Given the description of an element on the screen output the (x, y) to click on. 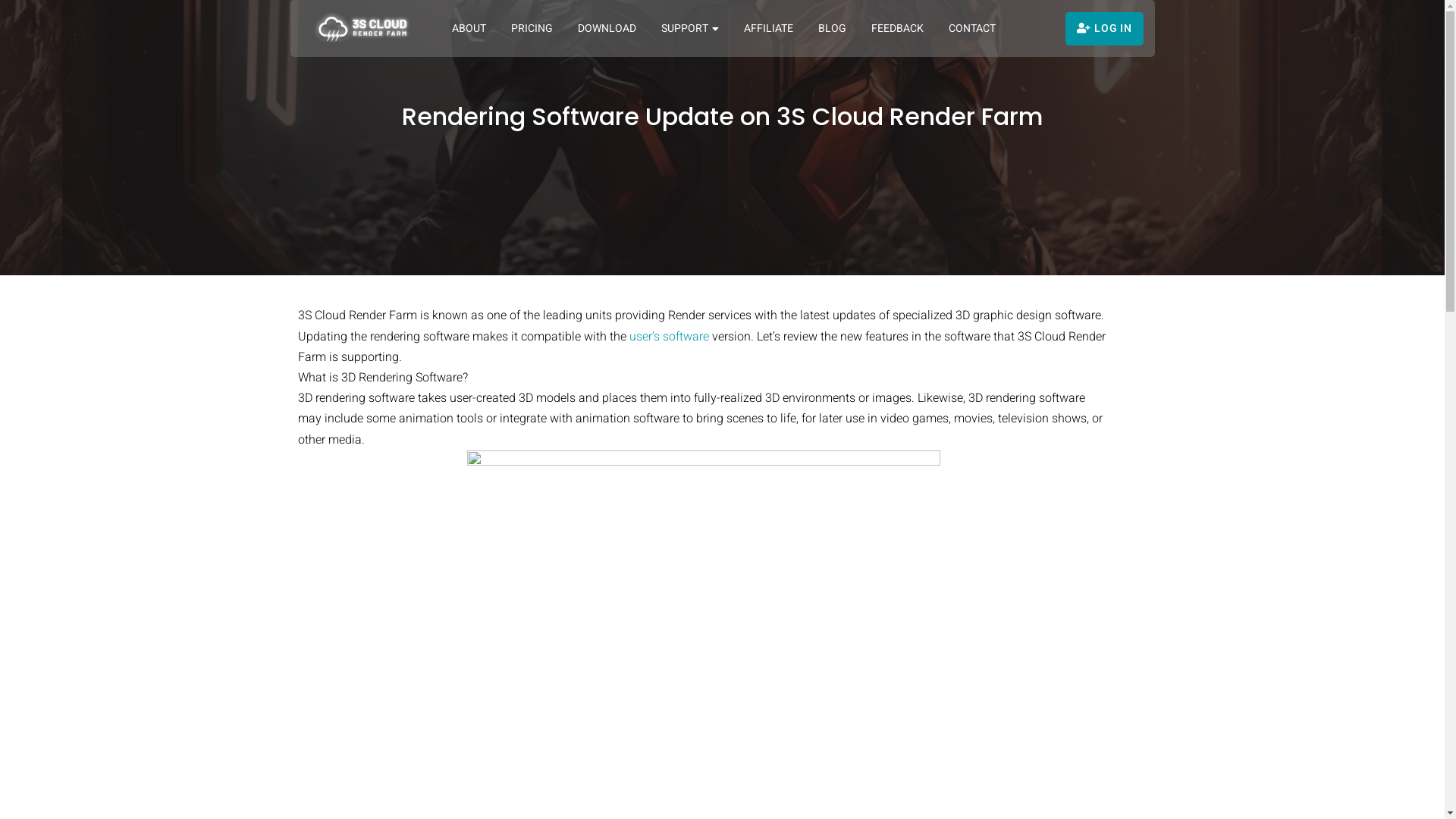
PRICING Element type: text (530, 28)
BLOG Element type: text (829, 28)
AFFILIATE Element type: text (766, 28)
SUPPORT Element type: text (688, 28)
DOWNLOAD Element type: text (605, 28)
FEEDBACK Element type: text (895, 28)
CONTACT Element type: text (970, 28)
ABOUT Element type: text (467, 28)
LOG IN Element type: text (1103, 28)
